Given the description of an element on the screen output the (x, y) to click on. 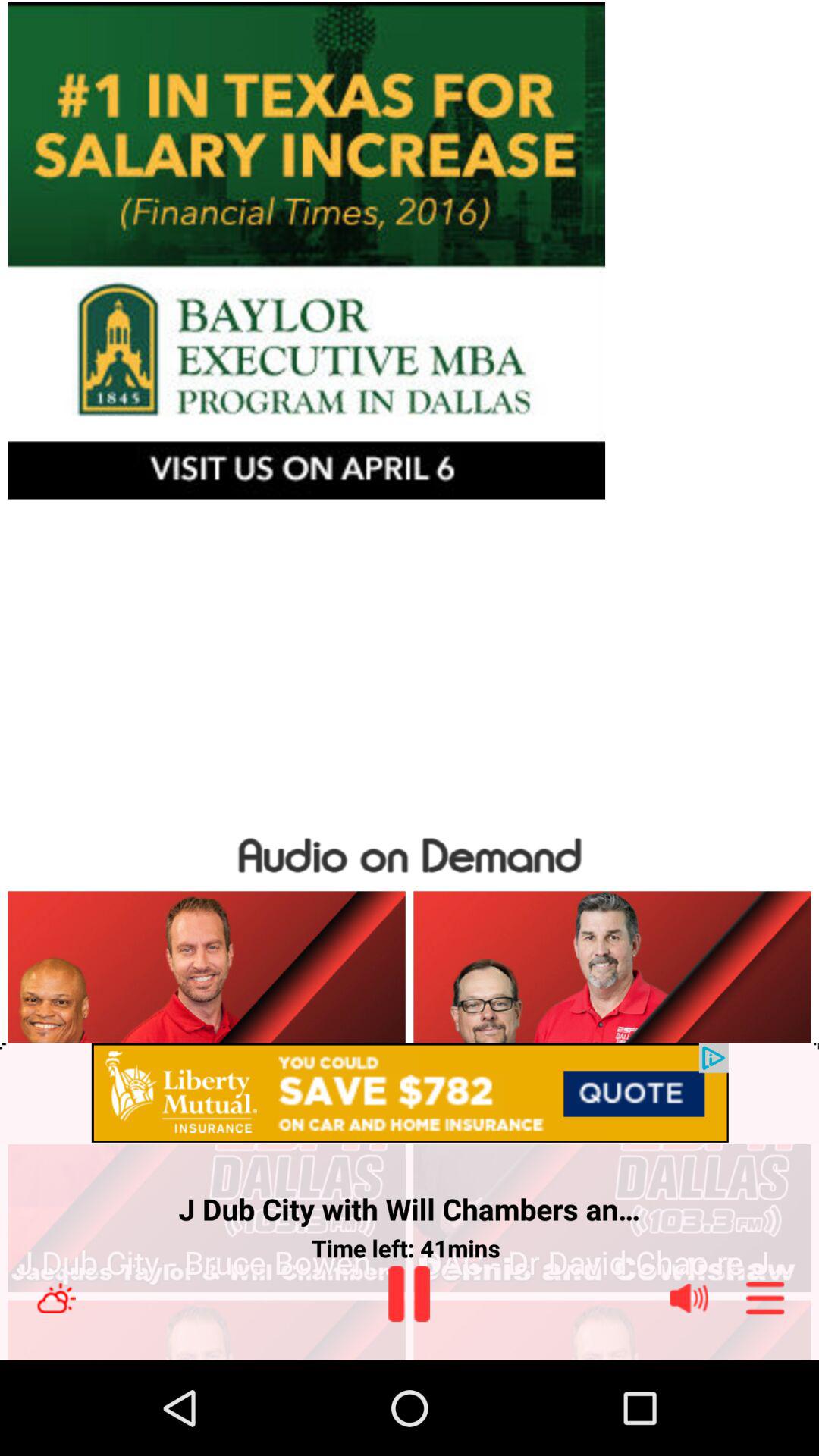
open all options (765, 1298)
